Given the description of an element on the screen output the (x, y) to click on. 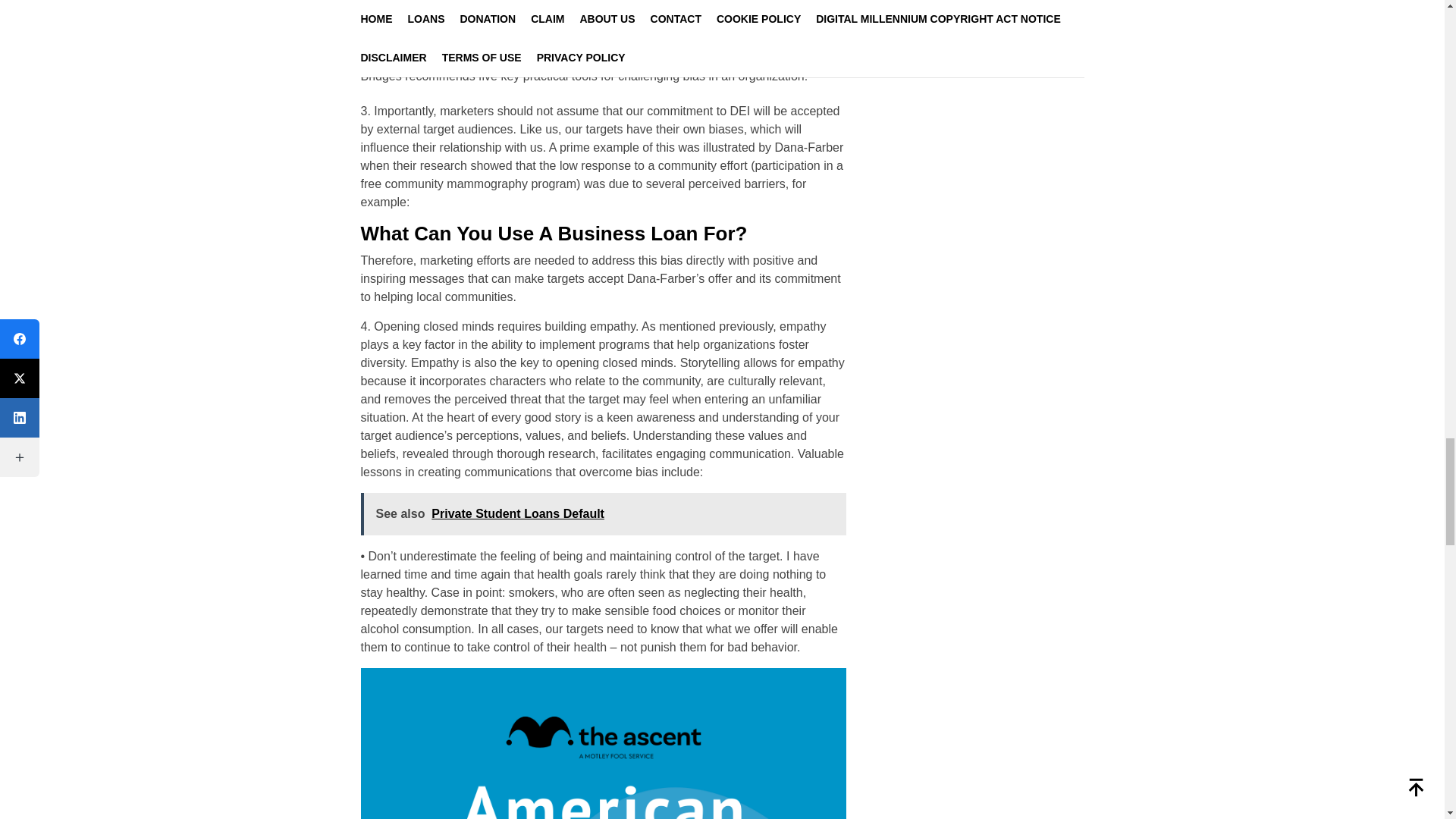
See also  Private Student Loans Default (603, 514)
